Given the description of an element on the screen output the (x, y) to click on. 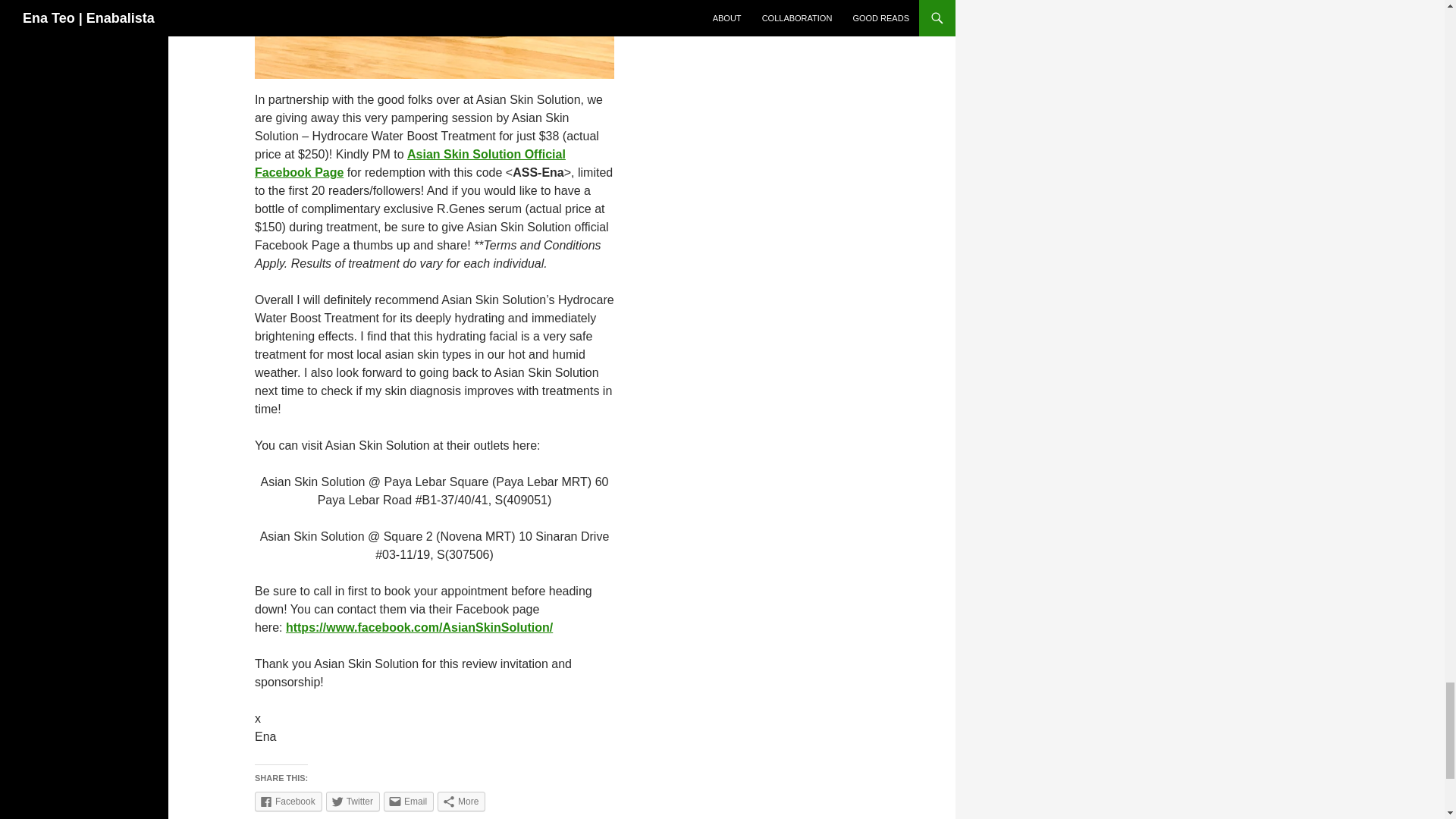
Click to email this to a friend (408, 801)
Click to share on Facebook (287, 801)
Asian Skin Solution Official Facebook Page (410, 163)
Facebook (287, 801)
More (461, 801)
Twitter (353, 801)
Click to share on Twitter (353, 801)
Email (408, 801)
